Given the description of an element on the screen output the (x, y) to click on. 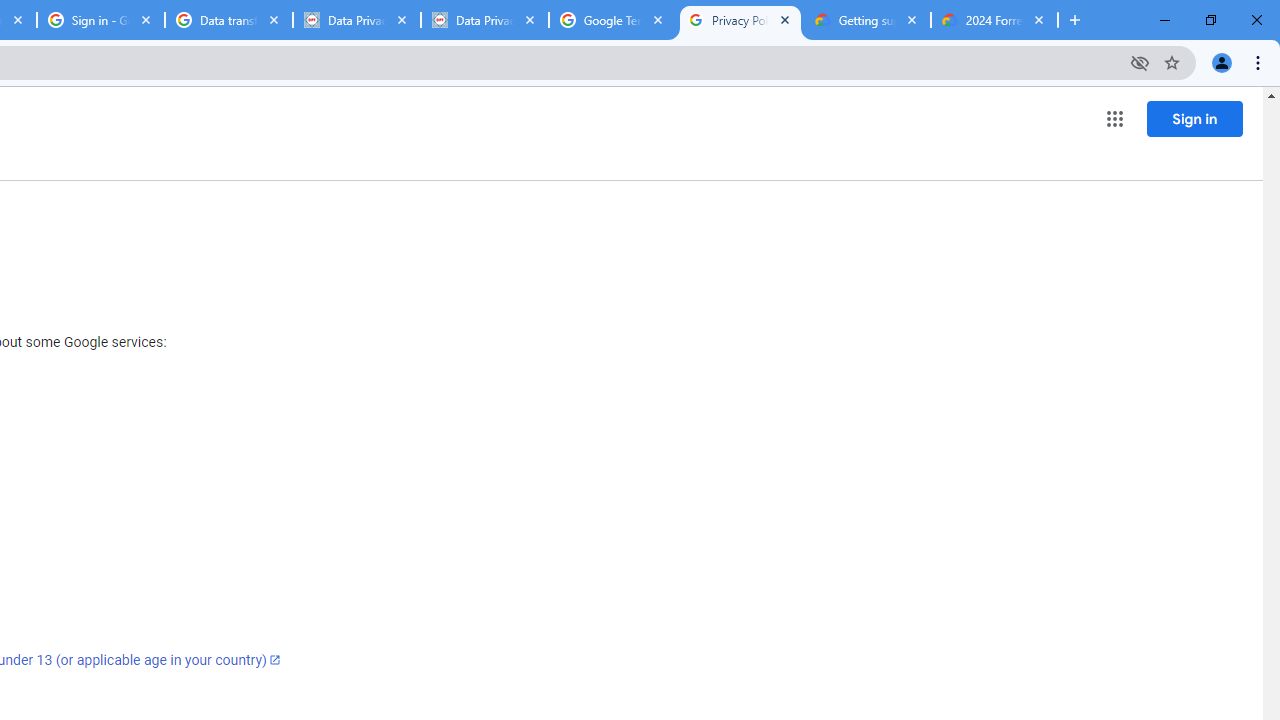
Sign in (1194, 118)
Third-party cookies blocked (1139, 62)
Sign in - Google Accounts (101, 20)
